Given the description of an element on the screen output the (x, y) to click on. 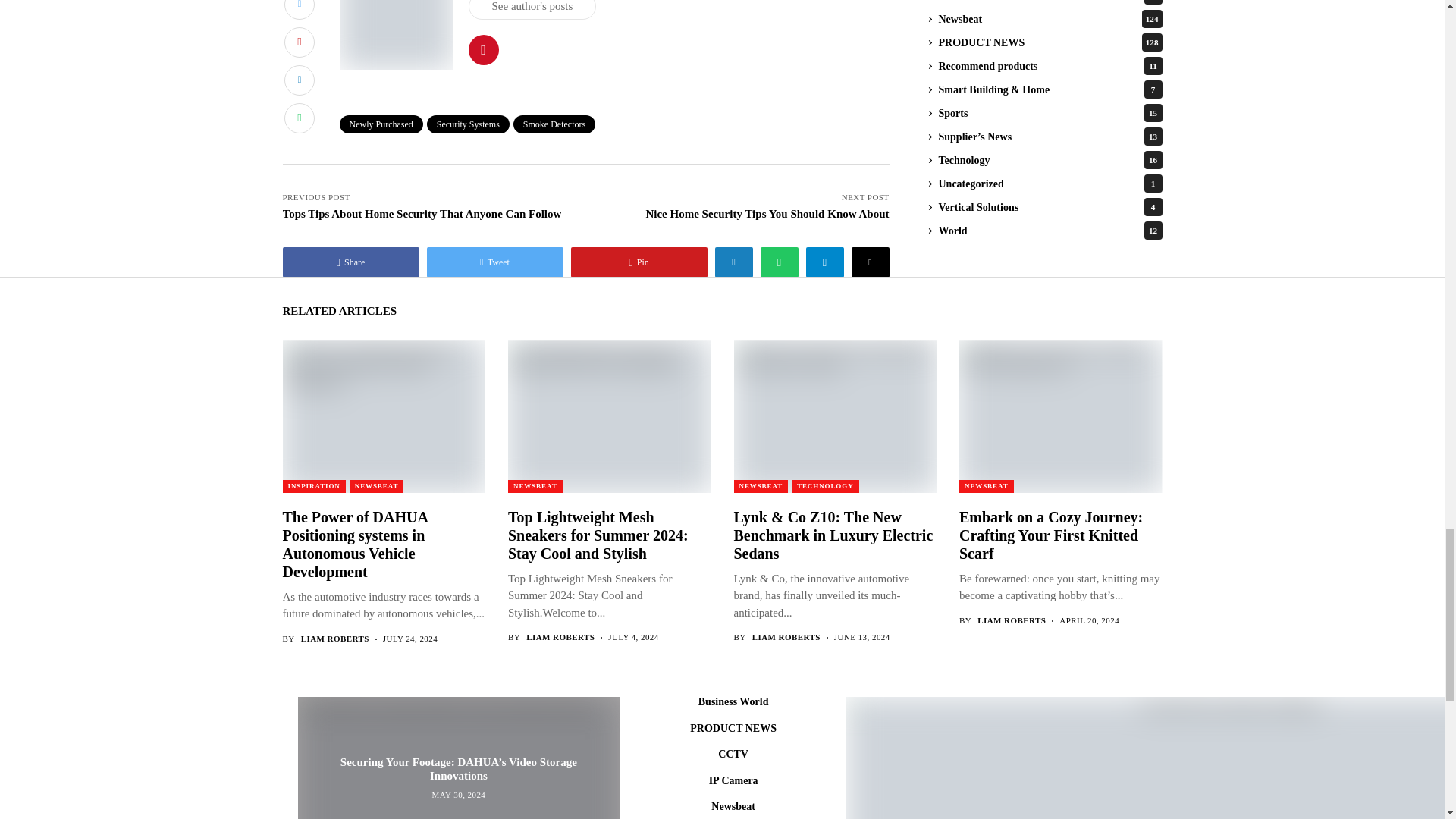
Posts by Liam Roberts (559, 637)
Posts by Liam Roberts (335, 638)
